Given the description of an element on the screen output the (x, y) to click on. 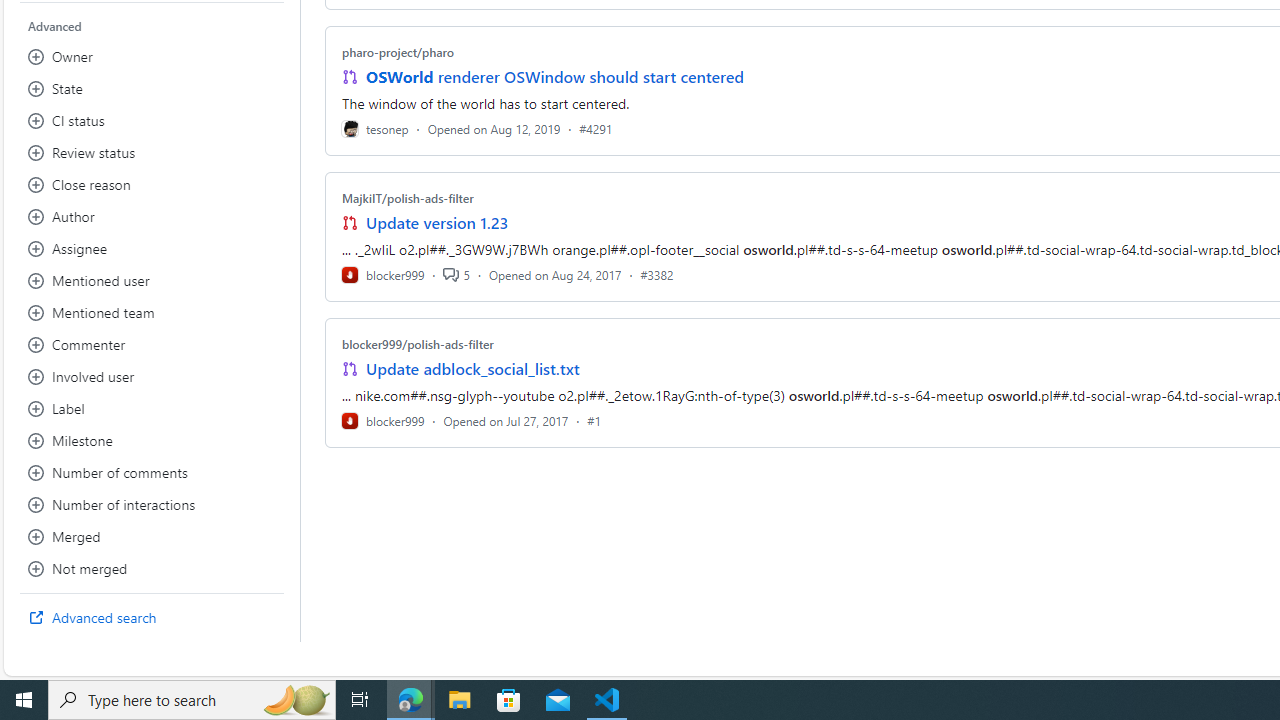
MajkiIT/polish-ads-filter (407, 197)
pharo-project/pharo (397, 52)
Advanced search (152, 617)
tesonep (375, 128)
OSWorld renderer OSWindow should start centered (554, 76)
